Given the description of an element on the screen output the (x, y) to click on. 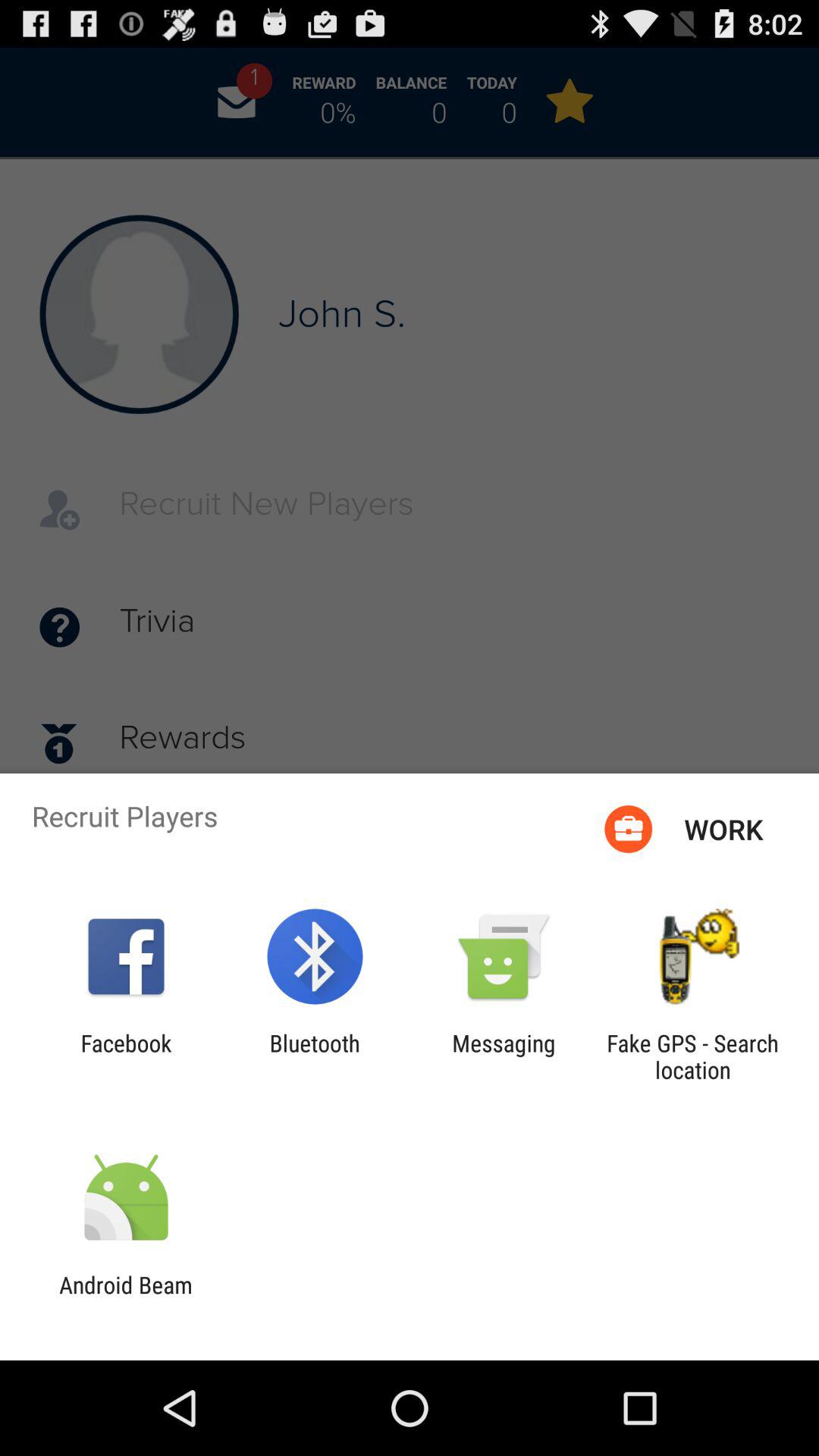
click app to the right of bluetooth item (503, 1056)
